Given the description of an element on the screen output the (x, y) to click on. 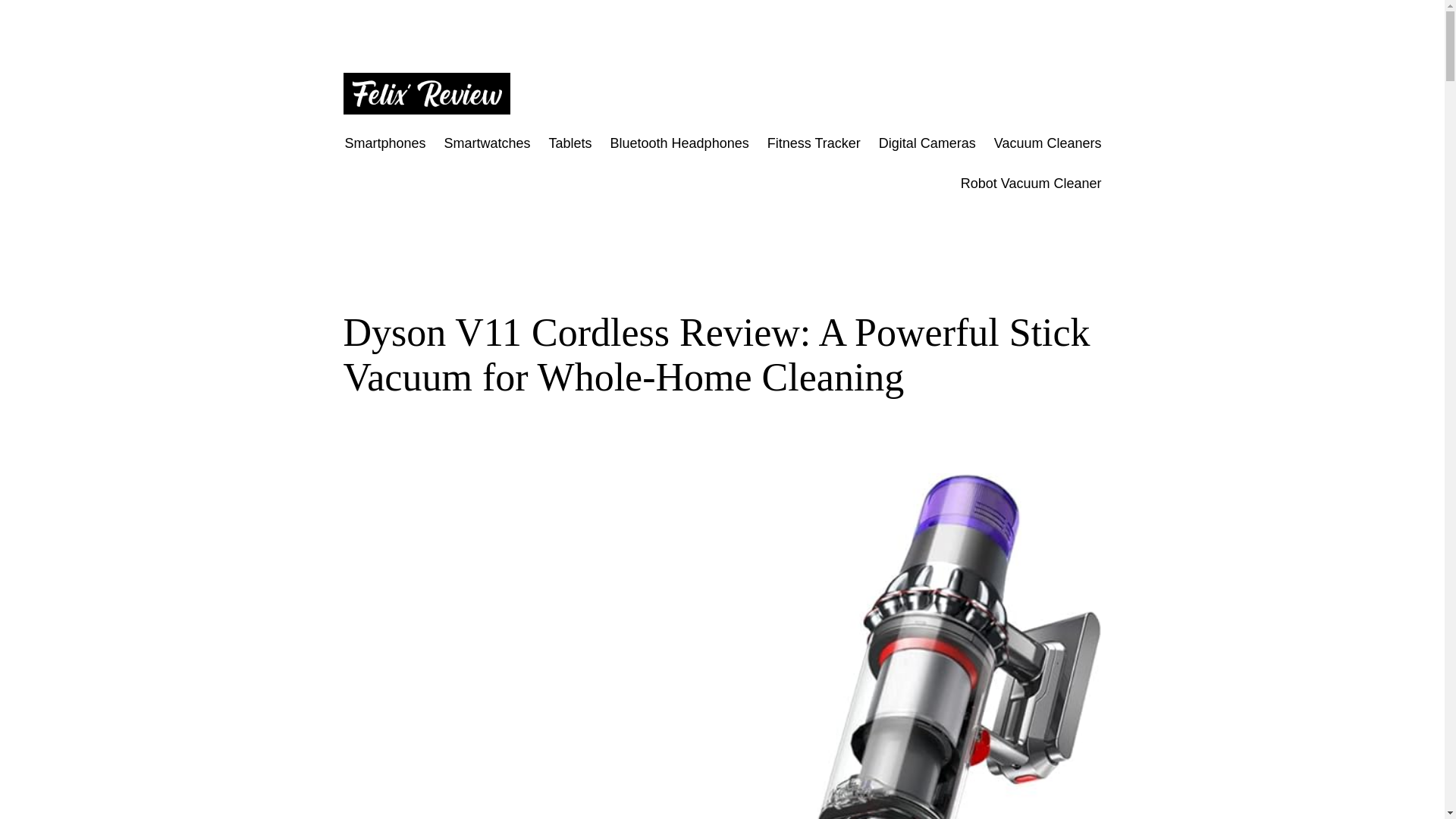
Tablets (569, 143)
Fitness Tracker (813, 143)
Digital Cameras (927, 143)
Vacuum Cleaners (1048, 143)
Smartphones (384, 143)
Bluetooth Headphones (679, 143)
Smartwatches (486, 143)
Robot Vacuum Cleaner (1031, 183)
